Given the description of an element on the screen output the (x, y) to click on. 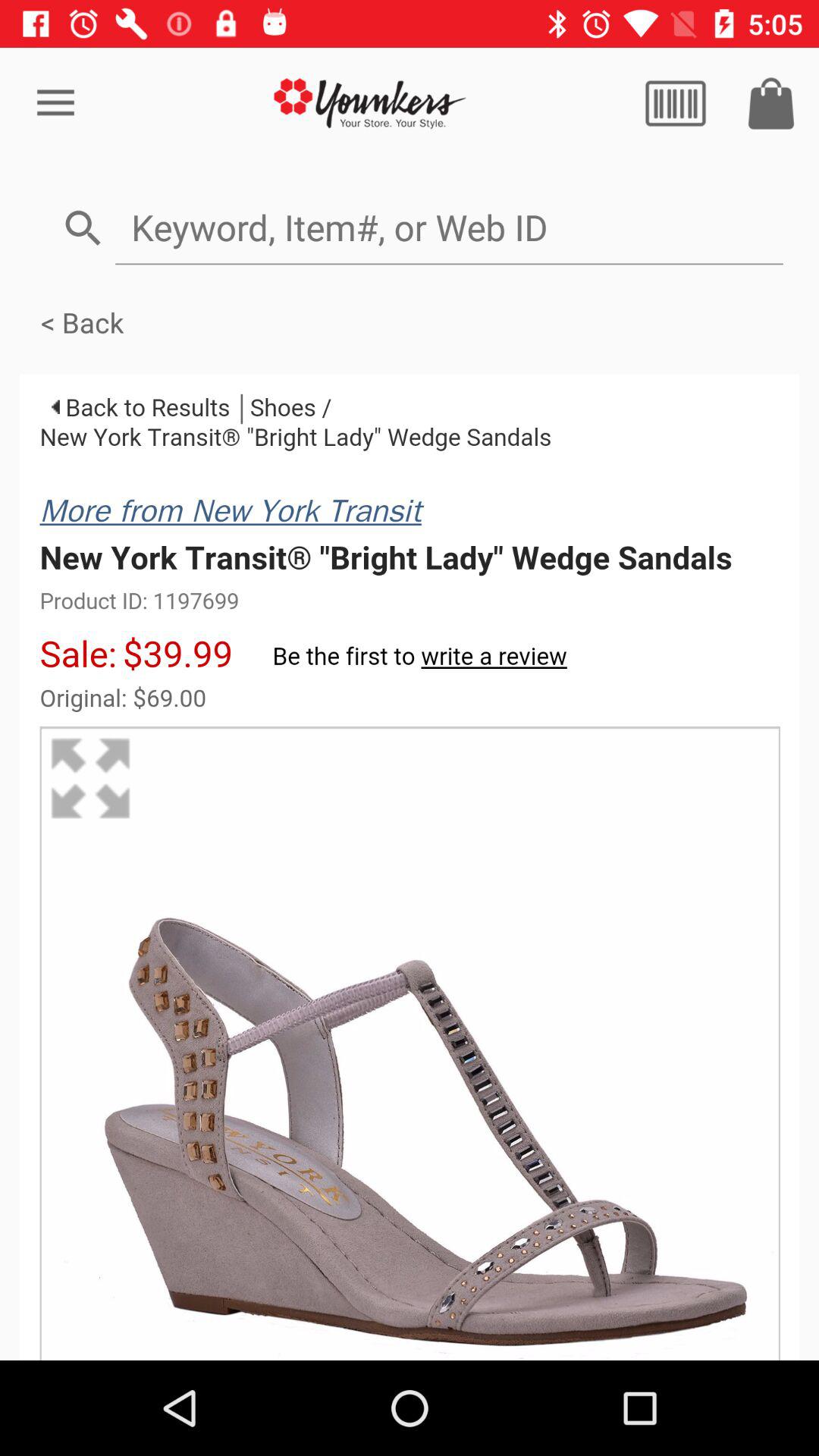
shopping tool (771, 103)
